Given the description of an element on the screen output the (x, y) to click on. 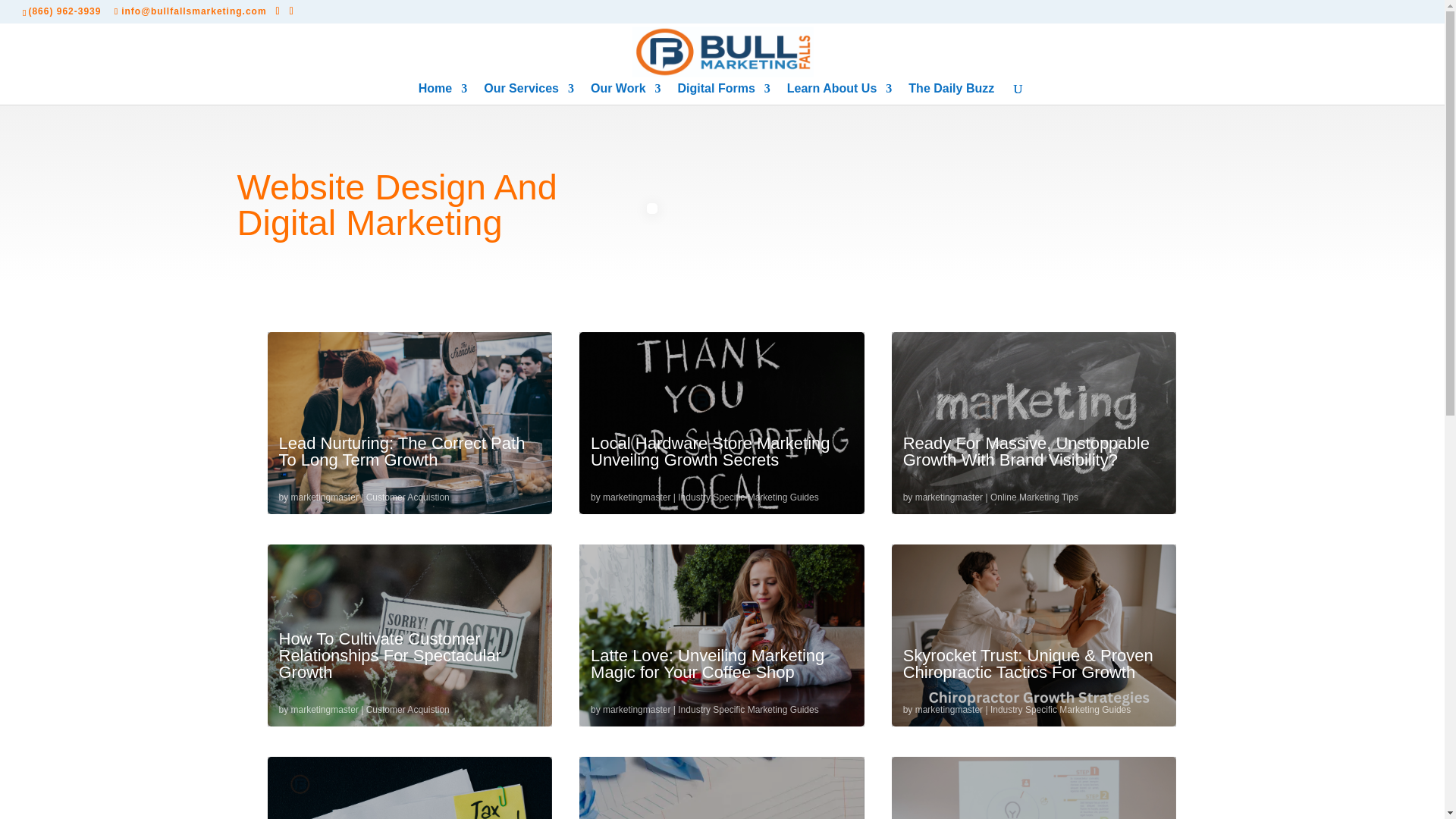
Posts by marketingmaster (635, 709)
Posts by marketingmaster (324, 709)
Digital Forms (724, 93)
Home (443, 93)
Posts by marketingmaster (635, 497)
Posts by marketingmaster (324, 497)
Learn About Us (839, 93)
Posts by marketingmaster (948, 709)
Our Work (626, 93)
Our Services (528, 93)
Posts by marketingmaster (948, 497)
